Given the description of an element on the screen output the (x, y) to click on. 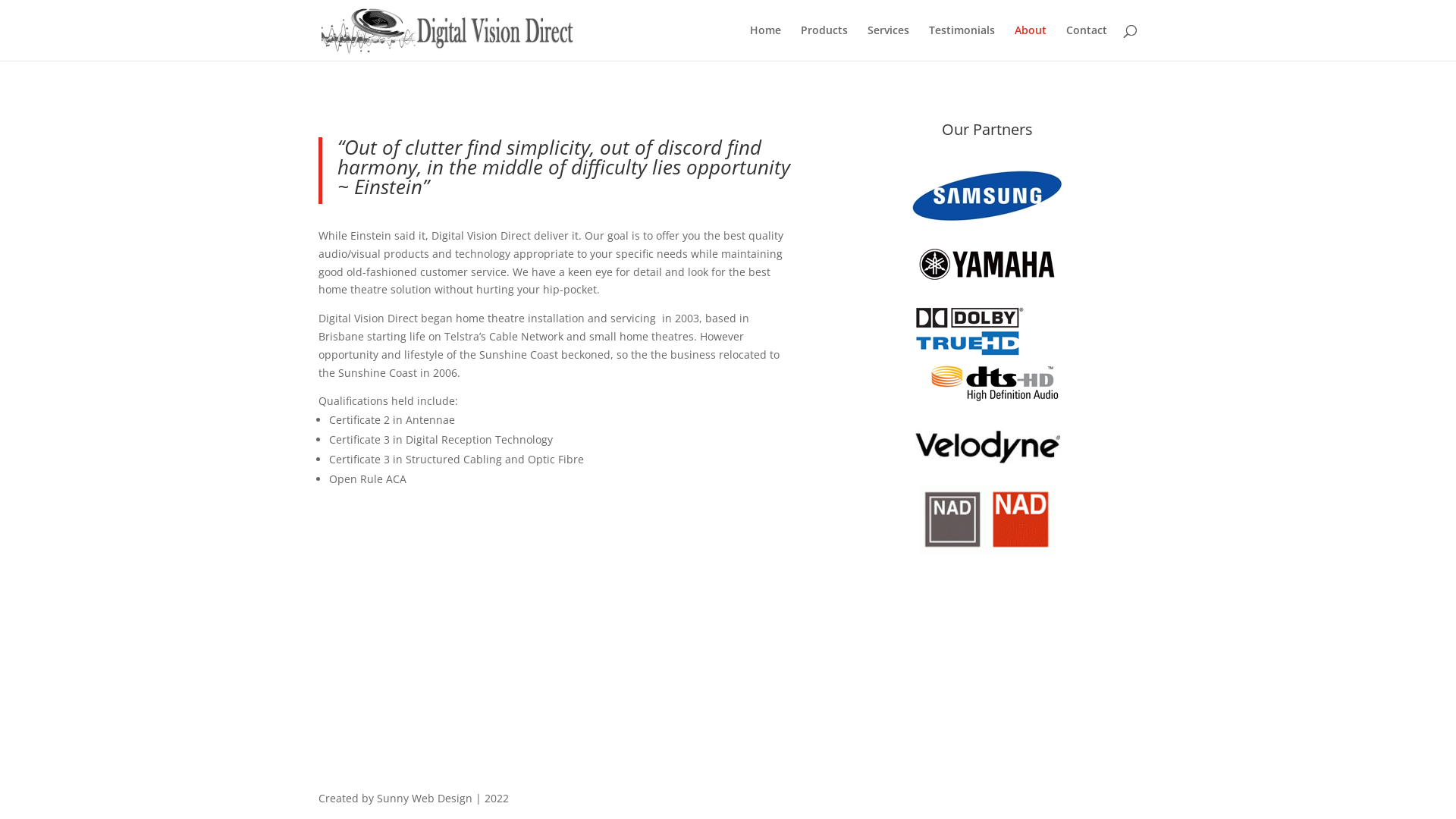
Samsung logo Element type: hover (986, 195)
Products Element type: text (823, 42)
NAD logo Element type: hover (987, 520)
Testimonials Element type: text (961, 42)
Home Element type: text (765, 42)
Contact Element type: text (1086, 42)
Yamaha logo Element type: hover (986, 263)
Dolby DTS logo Element type: hover (986, 356)
About Element type: text (1030, 42)
Velodyne logo Element type: hover (987, 446)
Services Element type: text (888, 42)
